Given the description of an element on the screen output the (x, y) to click on. 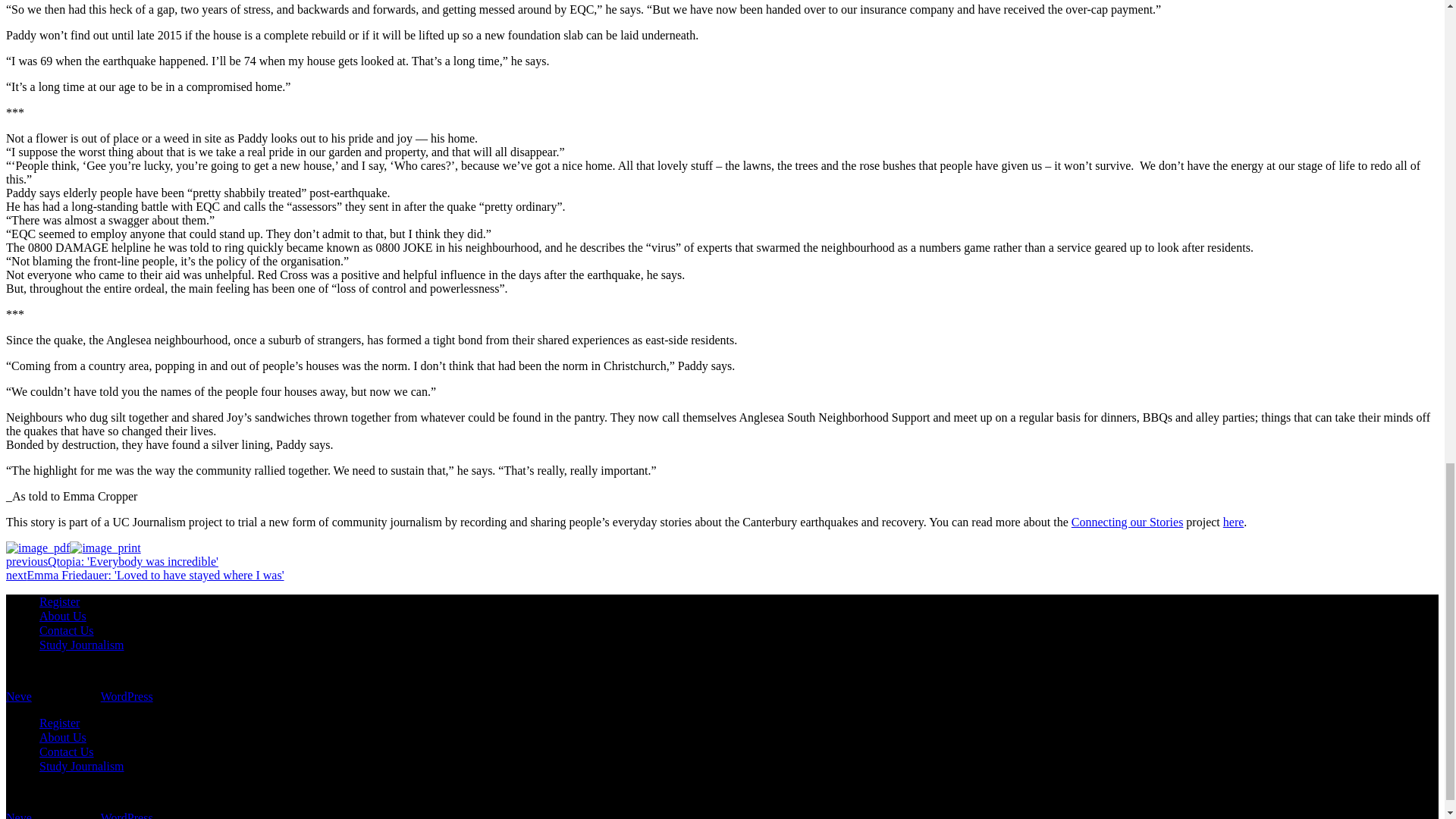
View PDF (37, 548)
here (1233, 521)
nextEmma Friedauer: 'Loved to have stayed where I was' (144, 574)
Neve (18, 696)
Contact Us (66, 630)
Register (59, 601)
previousQtopia: 'Everybody was incredible' (111, 561)
Study Journalism (81, 644)
WordPress (126, 696)
Connecting our Stories (1127, 521)
